Given the description of an element on the screen output the (x, y) to click on. 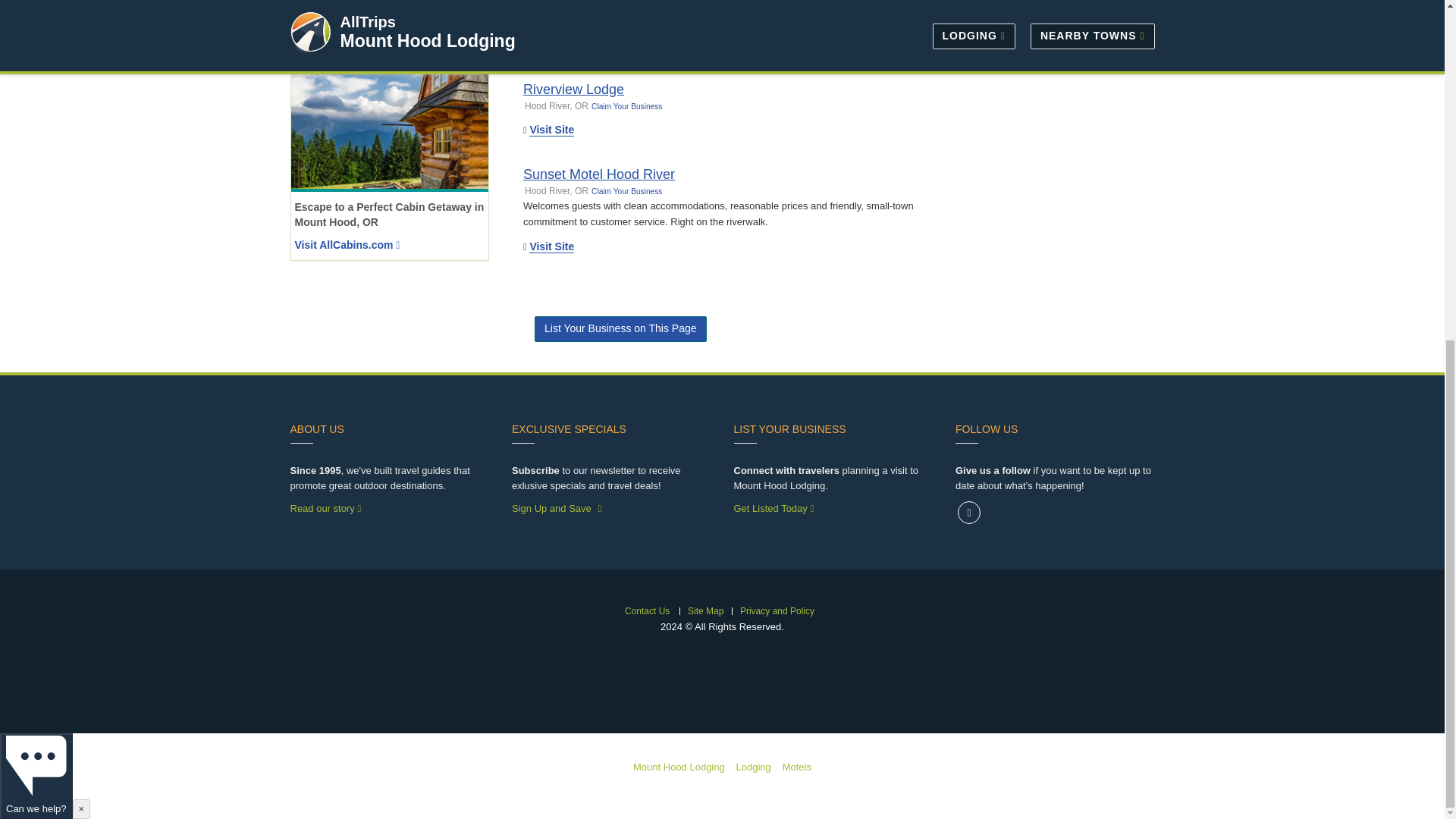
Motels (796, 767)
Mount Hood Lodging (679, 767)
Lodging (753, 767)
